Given the description of an element on the screen output the (x, y) to click on. 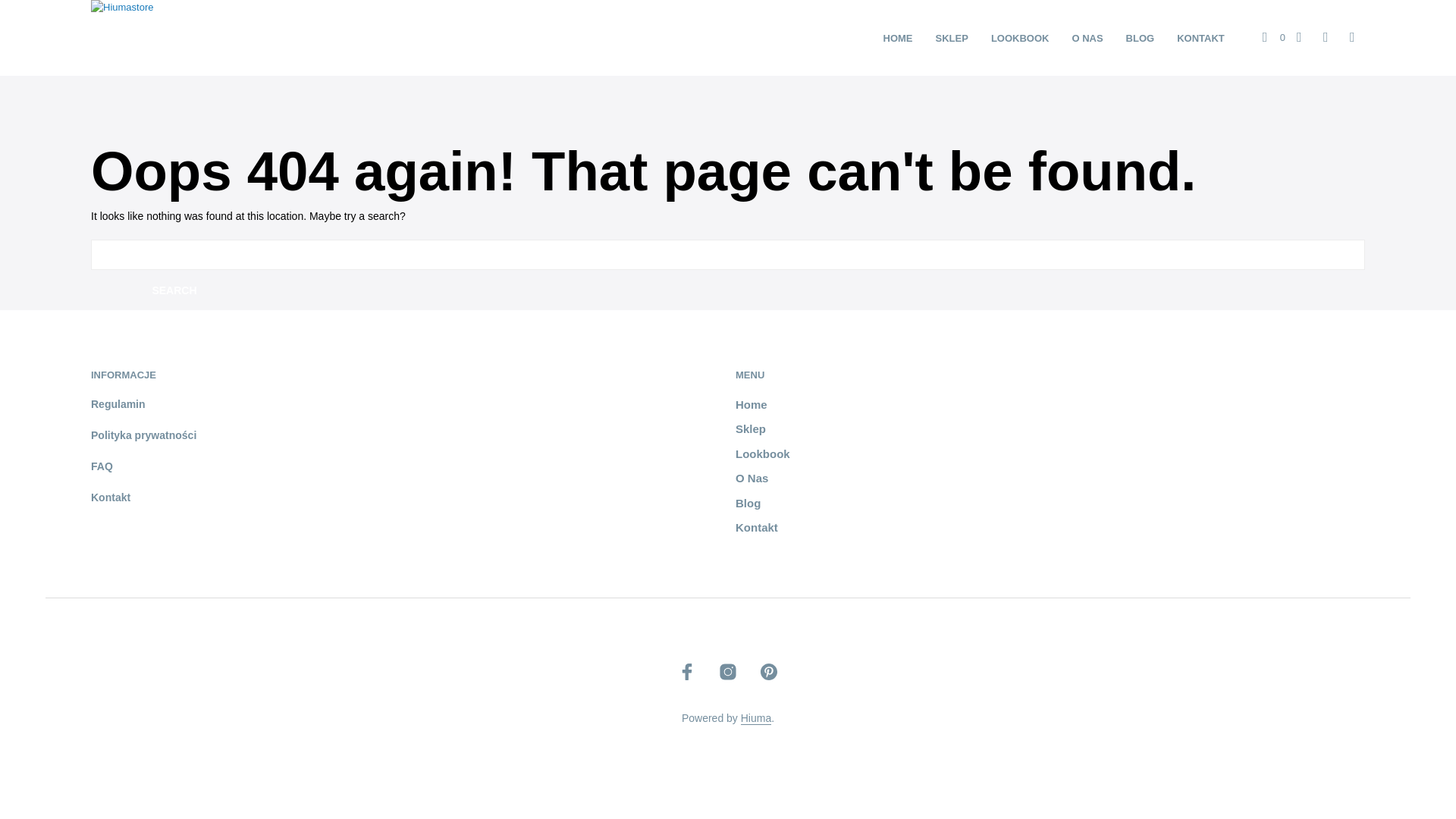
HOME (898, 38)
0 (1273, 37)
Blog (747, 502)
Search (173, 290)
Hiuma beach goods (756, 718)
Kontakt (110, 497)
O NAS (1086, 38)
Home (751, 404)
Search (173, 290)
SKLEP (951, 38)
